Given the description of an element on the screen output the (x, y) to click on. 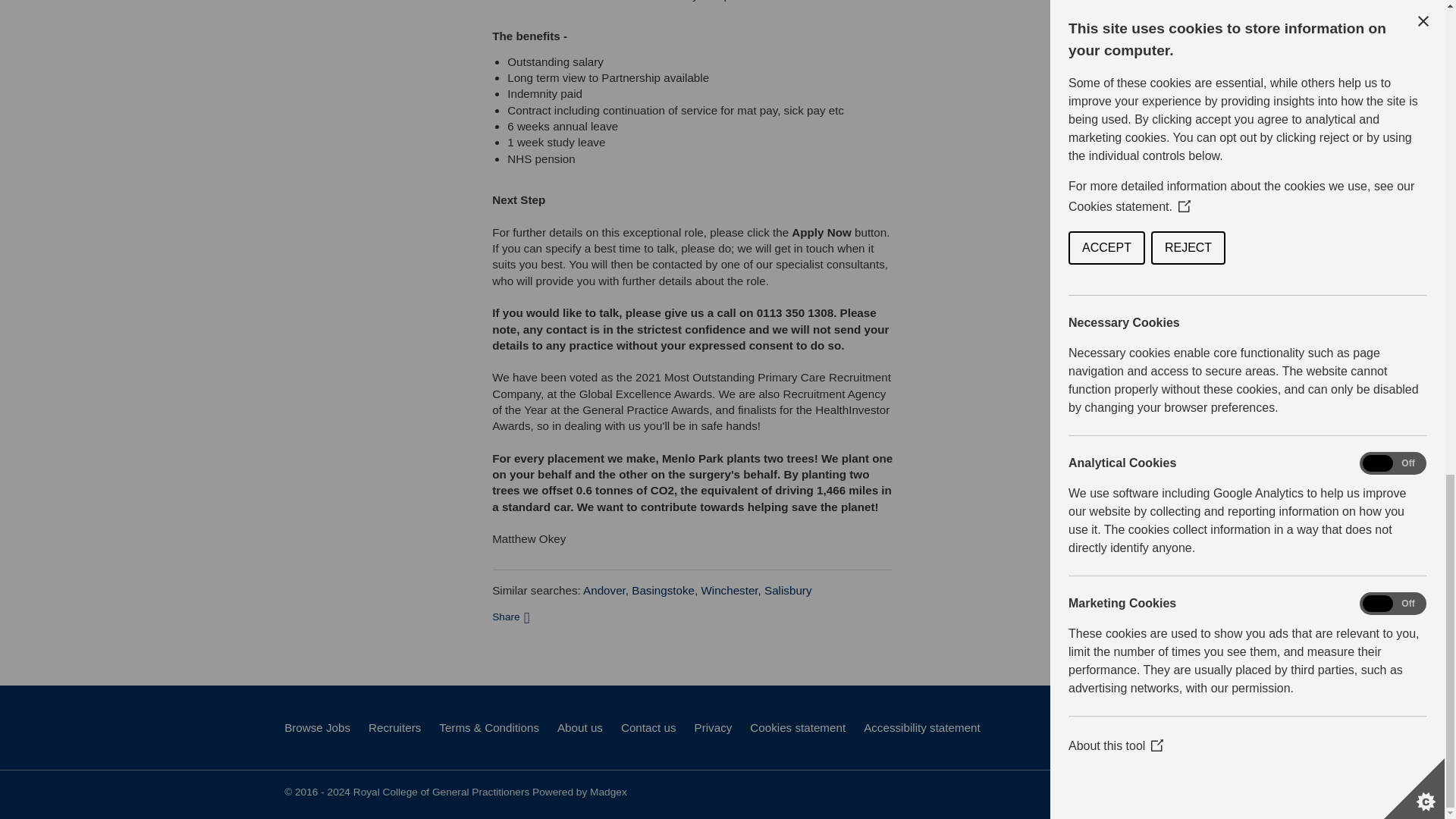
Basingstoke (662, 590)
Winchester (728, 590)
Andover (604, 590)
Share (510, 615)
Salisbury (787, 590)
